Given the description of an element on the screen output the (x, y) to click on. 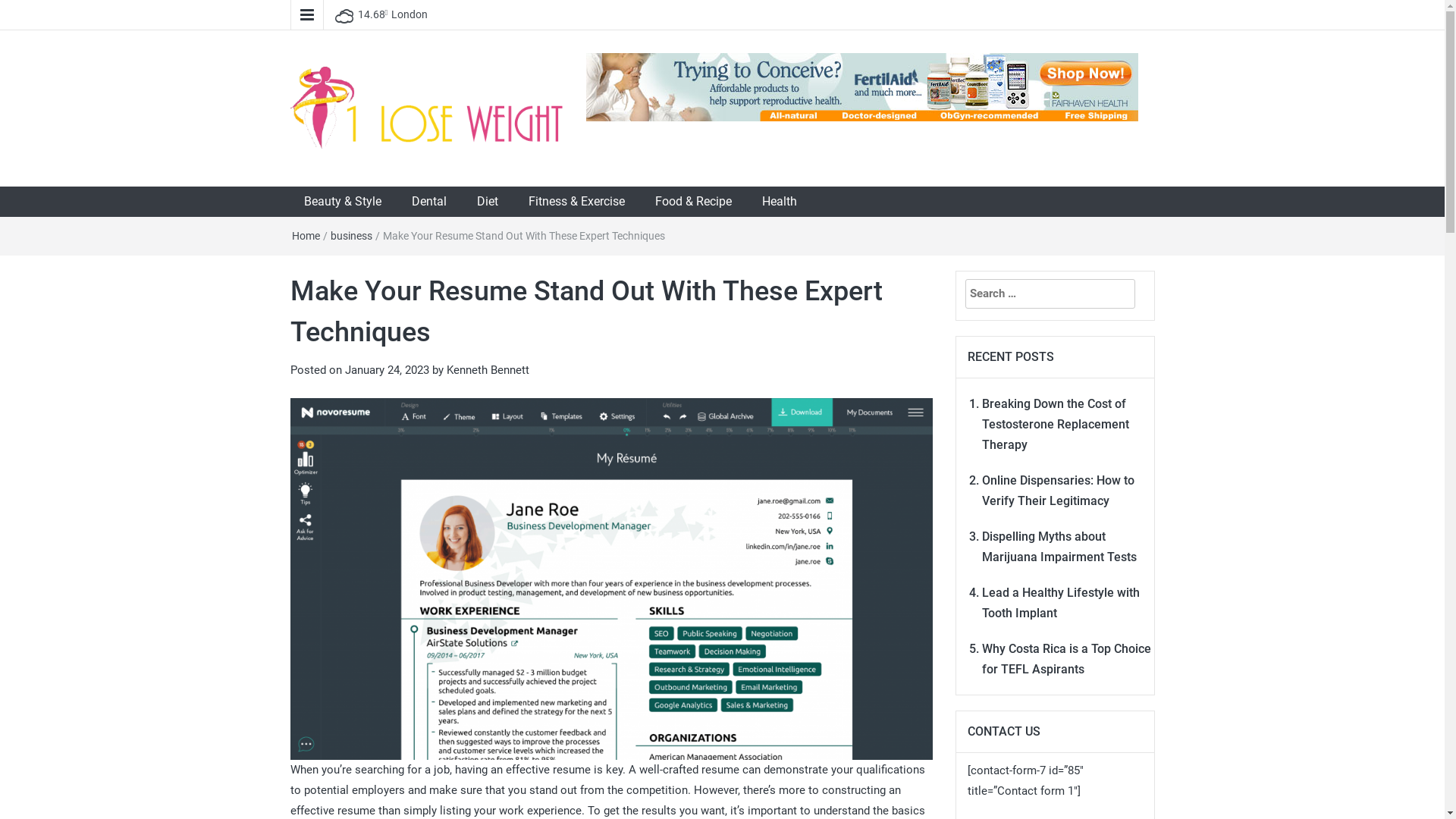
Dispelling Myths about Marijuana Impairment Tests Element type: text (1059, 546)
Diet Element type: text (486, 201)
business Element type: text (351, 235)
Breaking Down the Cost of Testosterone Replacement Therapy Element type: text (1055, 423)
Home Element type: text (305, 235)
Kenneth Bennett Element type: text (486, 369)
January 24, 2023 Element type: text (386, 369)
Dental Element type: text (428, 201)
Lead a Healthy Lifestyle with Tooth Implant Element type: text (1060, 602)
Search Element type: text (15, 6)
Fitness & Exercise Element type: text (575, 201)
Food & Recipe Element type: text (693, 201)
Why Costa Rica is a Top Choice for TEFL Aspirants Element type: text (1066, 658)
1 Lose Weight Fast Element type: text (404, 170)
Beauty & Style Element type: text (341, 201)
Health Element type: text (778, 201)
Online Dispensaries: How to Verify Their Legitimacy Element type: text (1058, 490)
